Given the description of an element on the screen output the (x, y) to click on. 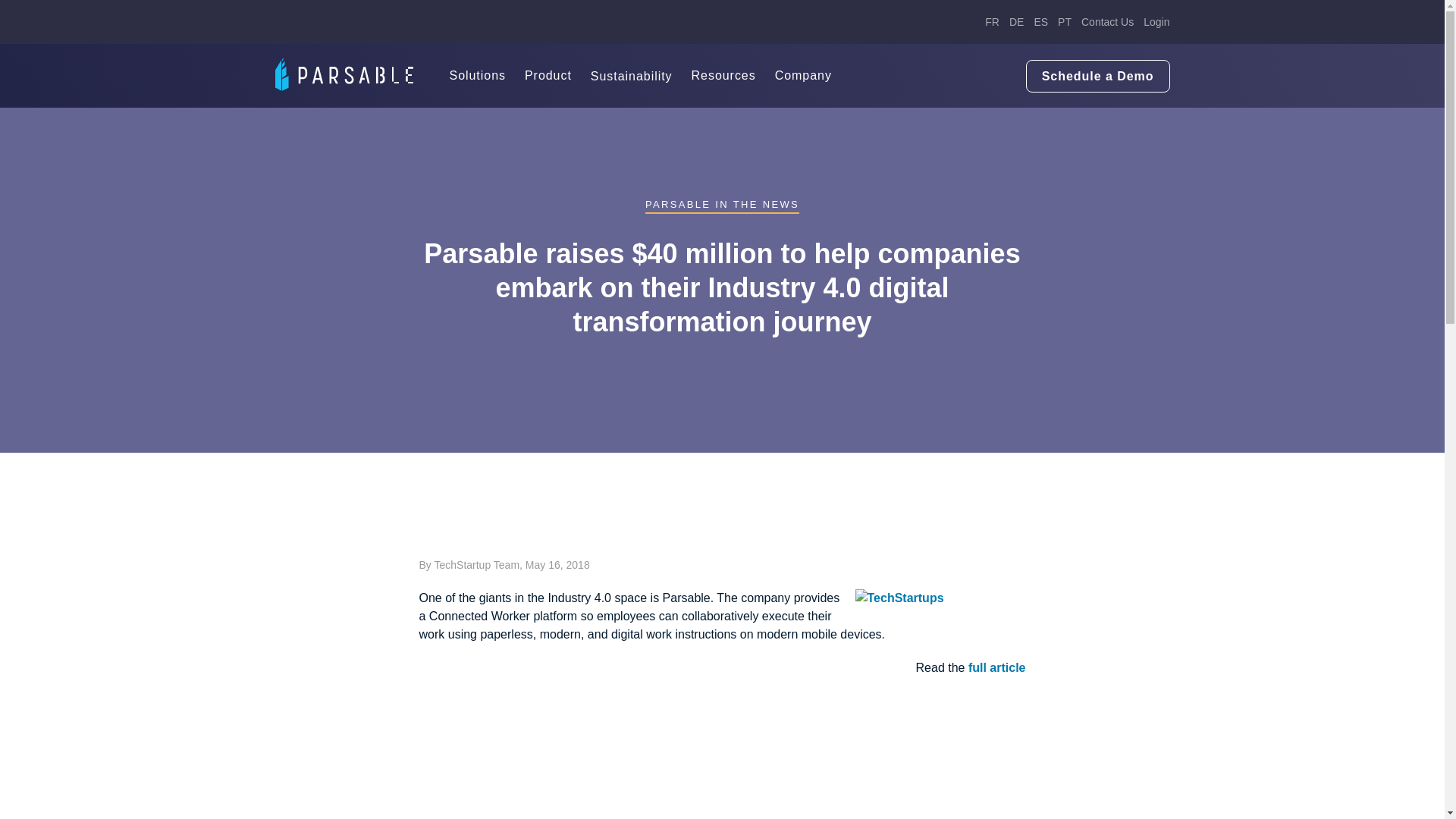
Contact Us (1107, 22)
Solutions (476, 75)
Schedule a Demo (1098, 76)
Product (548, 75)
PT (1064, 22)
Sustainability (631, 76)
PARSABLE IN THE NEWS (722, 205)
FR (991, 22)
ES (1040, 22)
Company (802, 75)
